Given the description of an element on the screen output the (x, y) to click on. 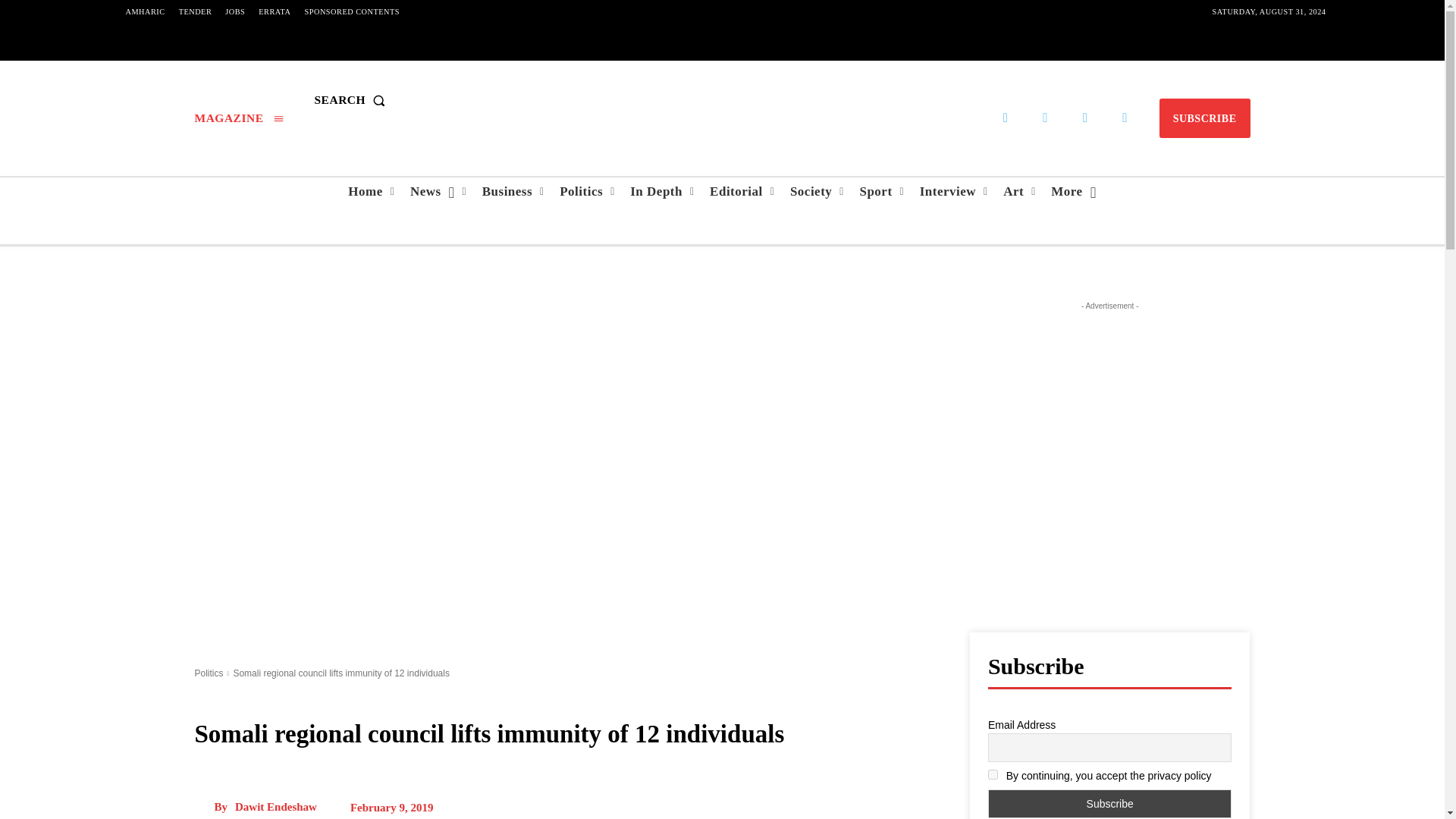
The Reporter Ethiopia, Ethiopian News (721, 99)
SEARCH (352, 99)
MAGAZINE (238, 117)
Magazine (238, 117)
SPONSORED CONTENTS (352, 12)
The Reporter Ethiopia, Ethiopian News (721, 99)
TENDER (195, 12)
Facebook (1006, 118)
ERRATA (274, 12)
Telegram (1045, 118)
